Given the description of an element on the screen output the (x, y) to click on. 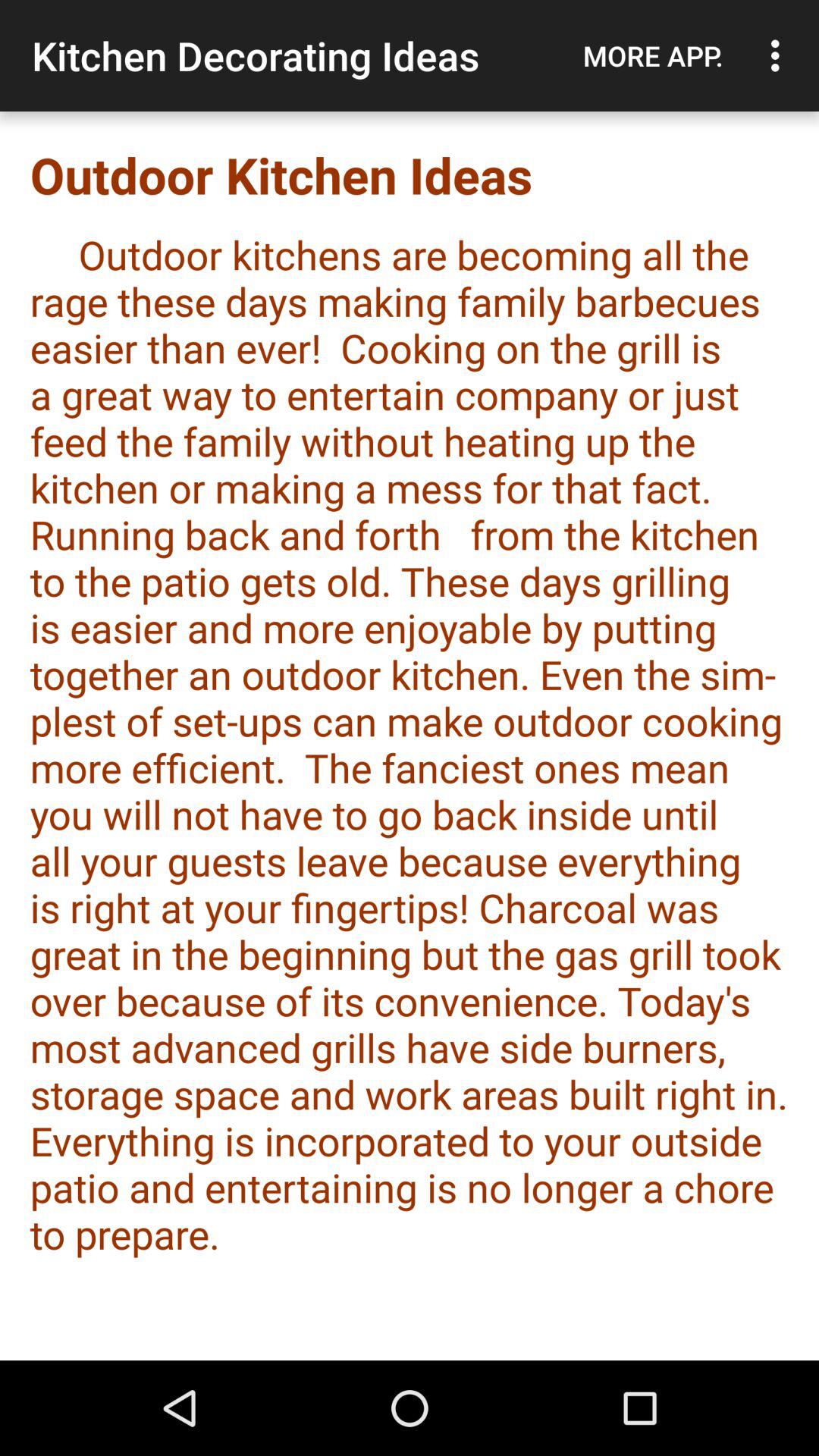
scroll until the more app. icon (653, 55)
